Given the description of an element on the screen output the (x, y) to click on. 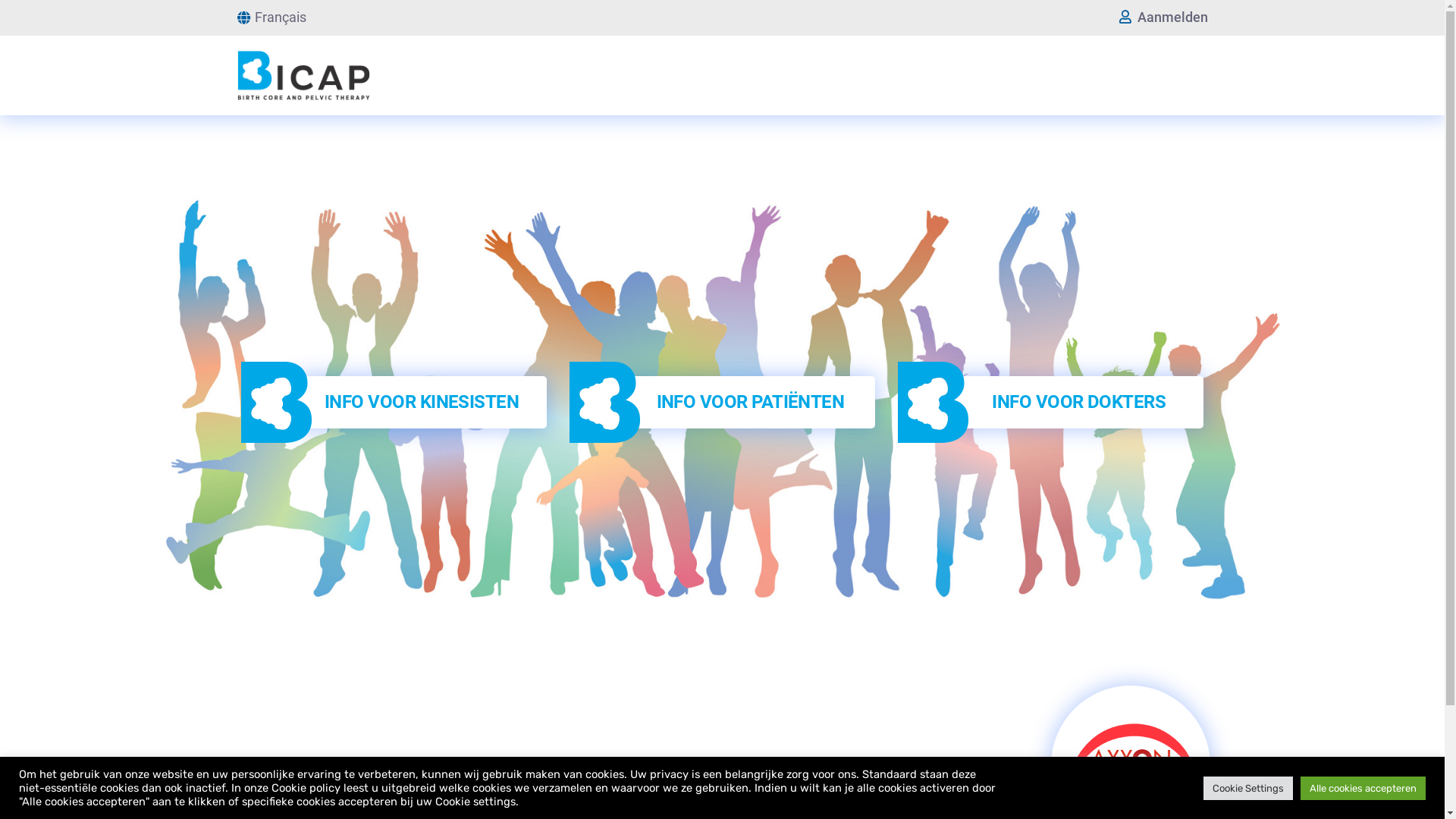
Contact Element type: text (669, 793)
Alle cookies accepteren Element type: text (1362, 788)
Vacatures Element type: text (515, 793)
Algemene voorwaarden Element type: text (781, 793)
Cookie Settings Element type: text (1247, 788)
Privacy policy Element type: text (911, 793)
Over Bicap Element type: text (268, 793)
INFO VOOR KINESISTEN Element type: text (421, 401)
INFO VOOR DOKTERS Element type: text (1078, 401)
Activiteiten Element type: text (596, 793)
